Given the description of an element on the screen output the (x, y) to click on. 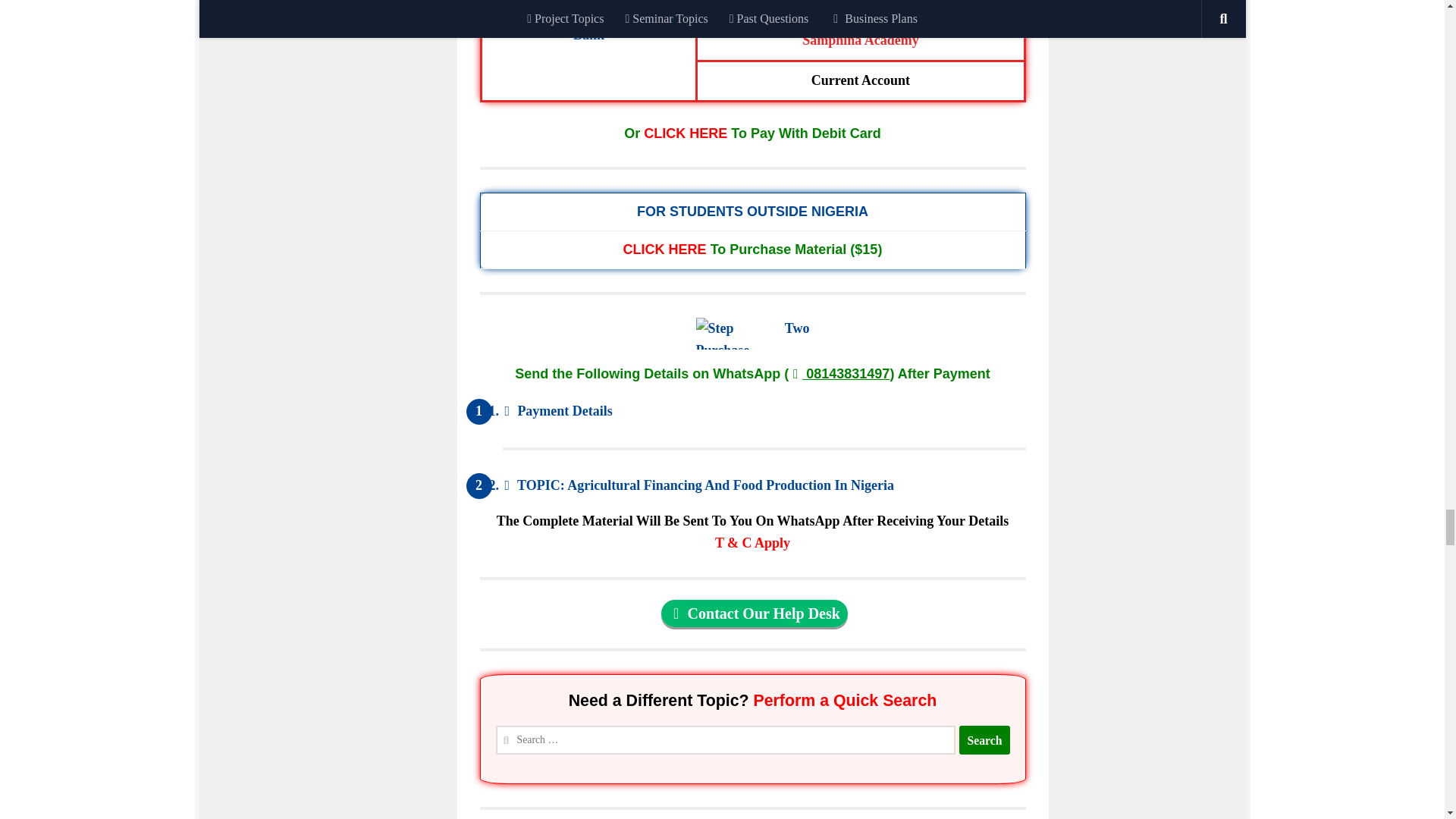
Search (984, 737)
Samphina Terms and Conditions (752, 542)
Contact Our Help Desk (754, 613)
CLICK HERE (664, 246)
08143831497 (839, 373)
Search (984, 739)
Search (984, 739)
Contact Information Page (754, 613)
CLICK HERE (684, 133)
